Given the description of an element on the screen output the (x, y) to click on. 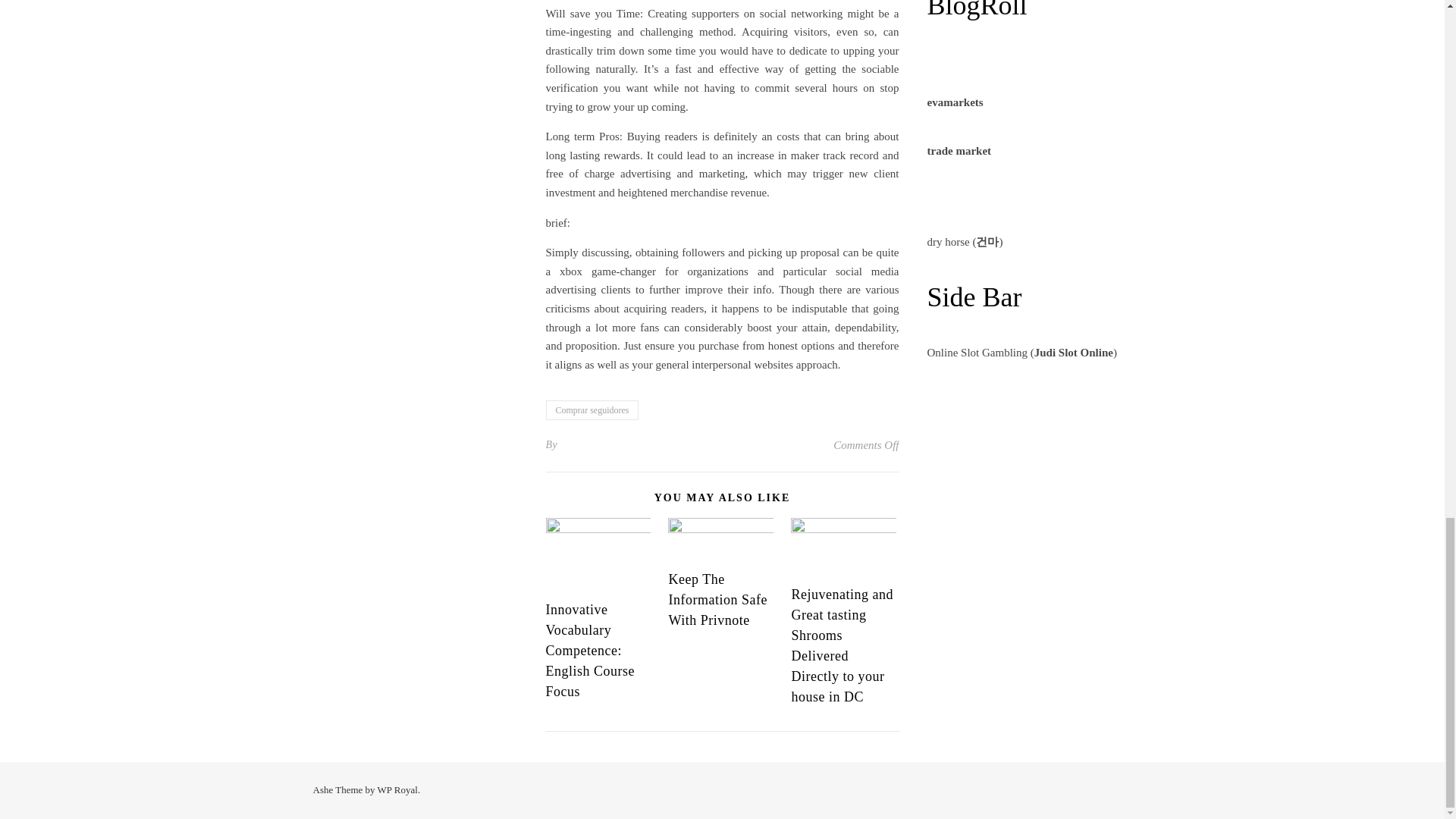
trade market (958, 150)
Keep The Information Safe With Privnote (717, 599)
Comprar seguidores (592, 410)
Innovative Vocabulary Competence: English Course Focus (590, 650)
evamarkets (954, 102)
